Given the description of an element on the screen output the (x, y) to click on. 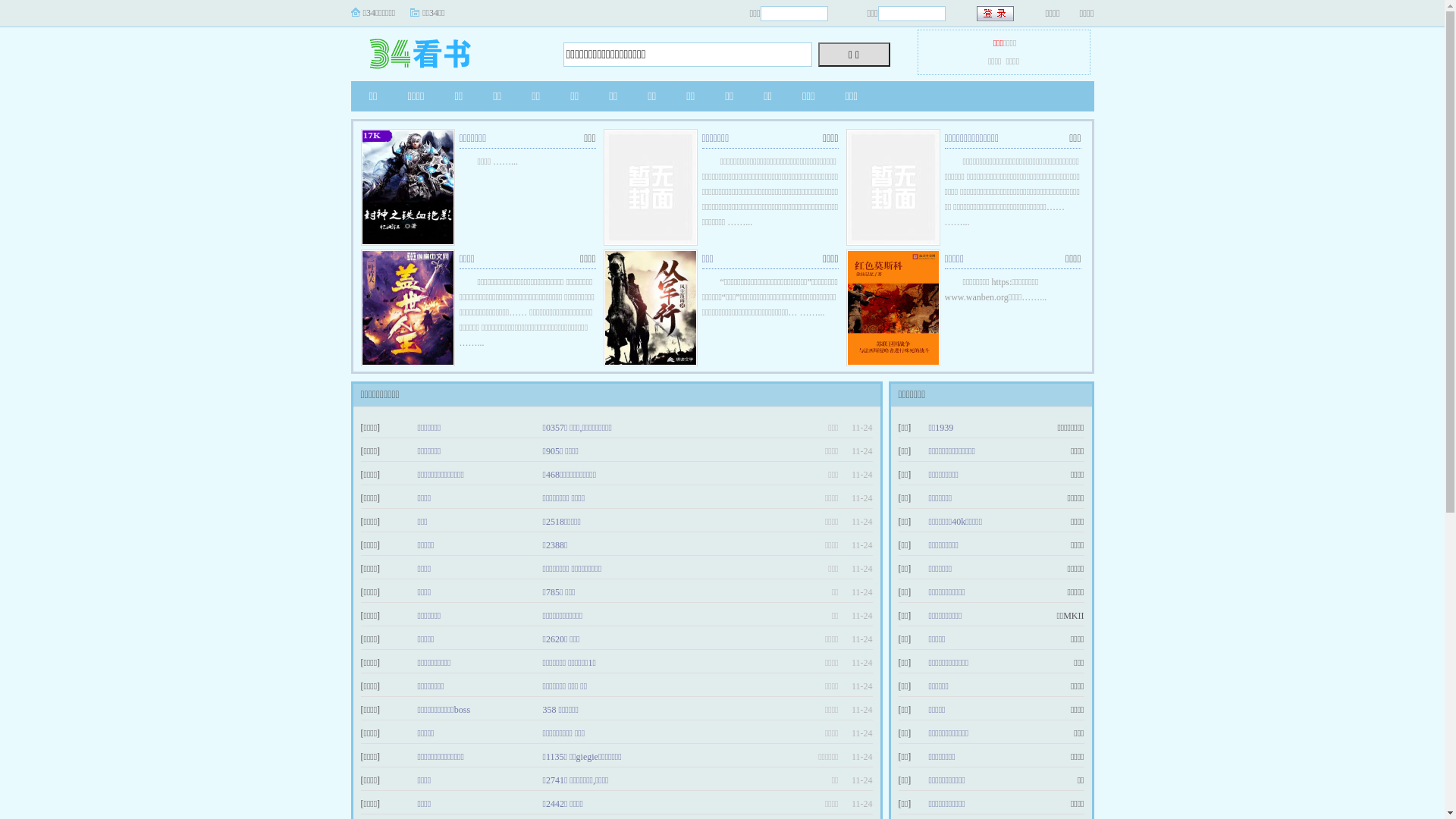
  Element type: text (995, 13)
